Given the description of an element on the screen output the (x, y) to click on. 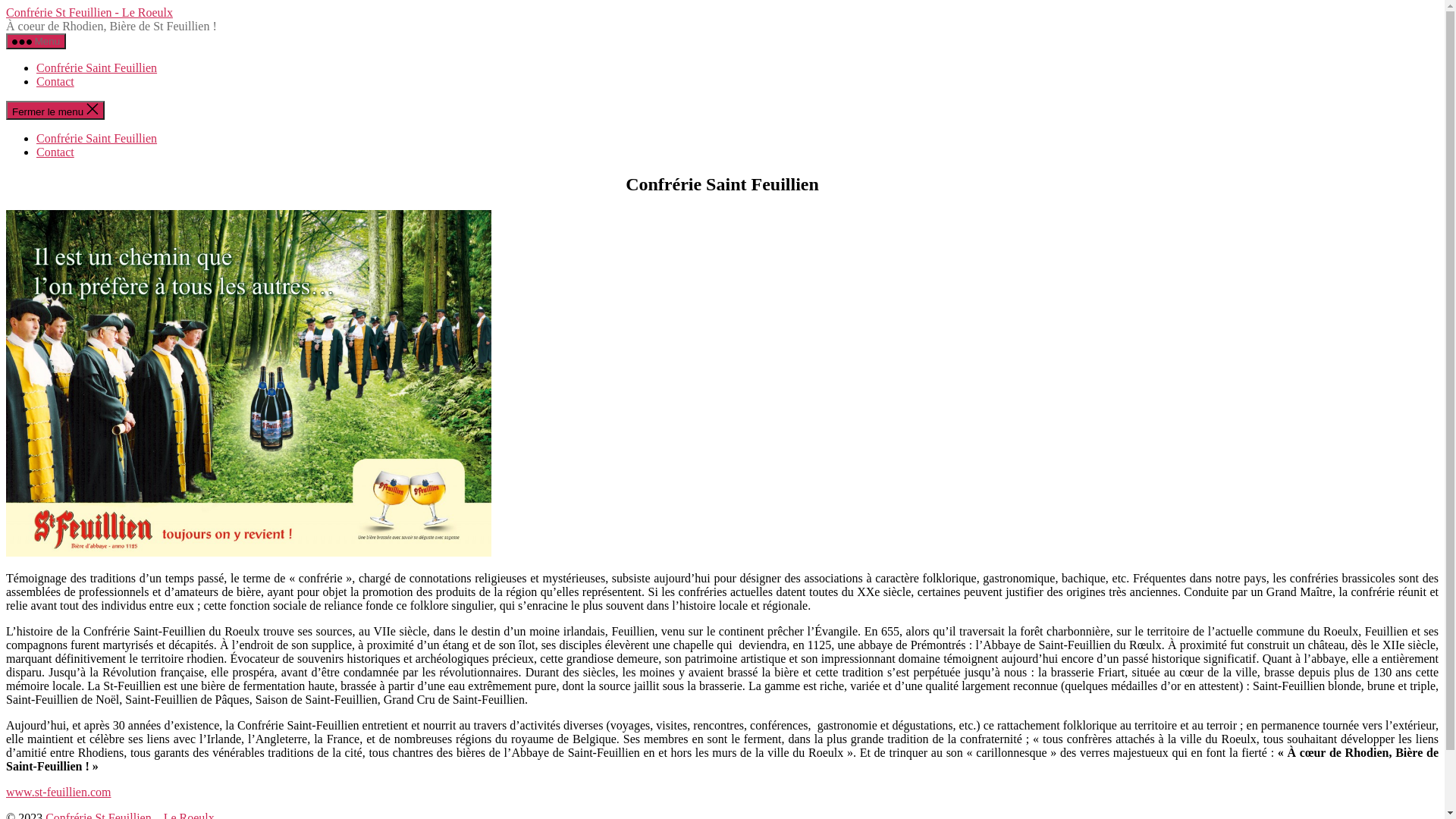
Contact Element type: text (55, 151)
Fermer le menu Element type: text (55, 109)
Contact Element type: text (55, 81)
Aller au contenu Element type: text (5, 5)
Menu Element type: text (35, 41)
www.st-feuillien.com Element type: text (58, 791)
